Given the description of an element on the screen output the (x, y) to click on. 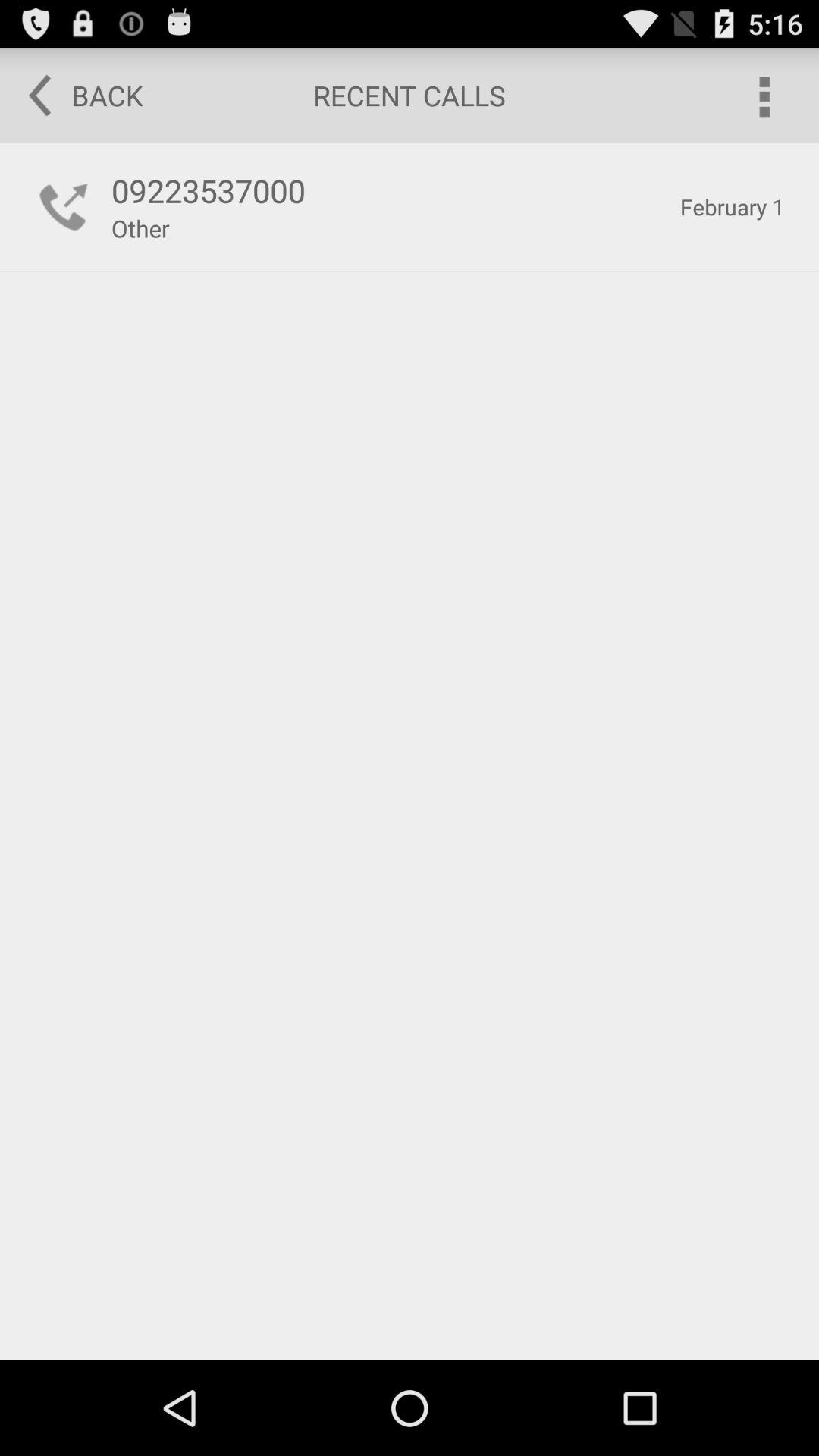
open the icon below back (63, 206)
